Given the description of an element on the screen output the (x, y) to click on. 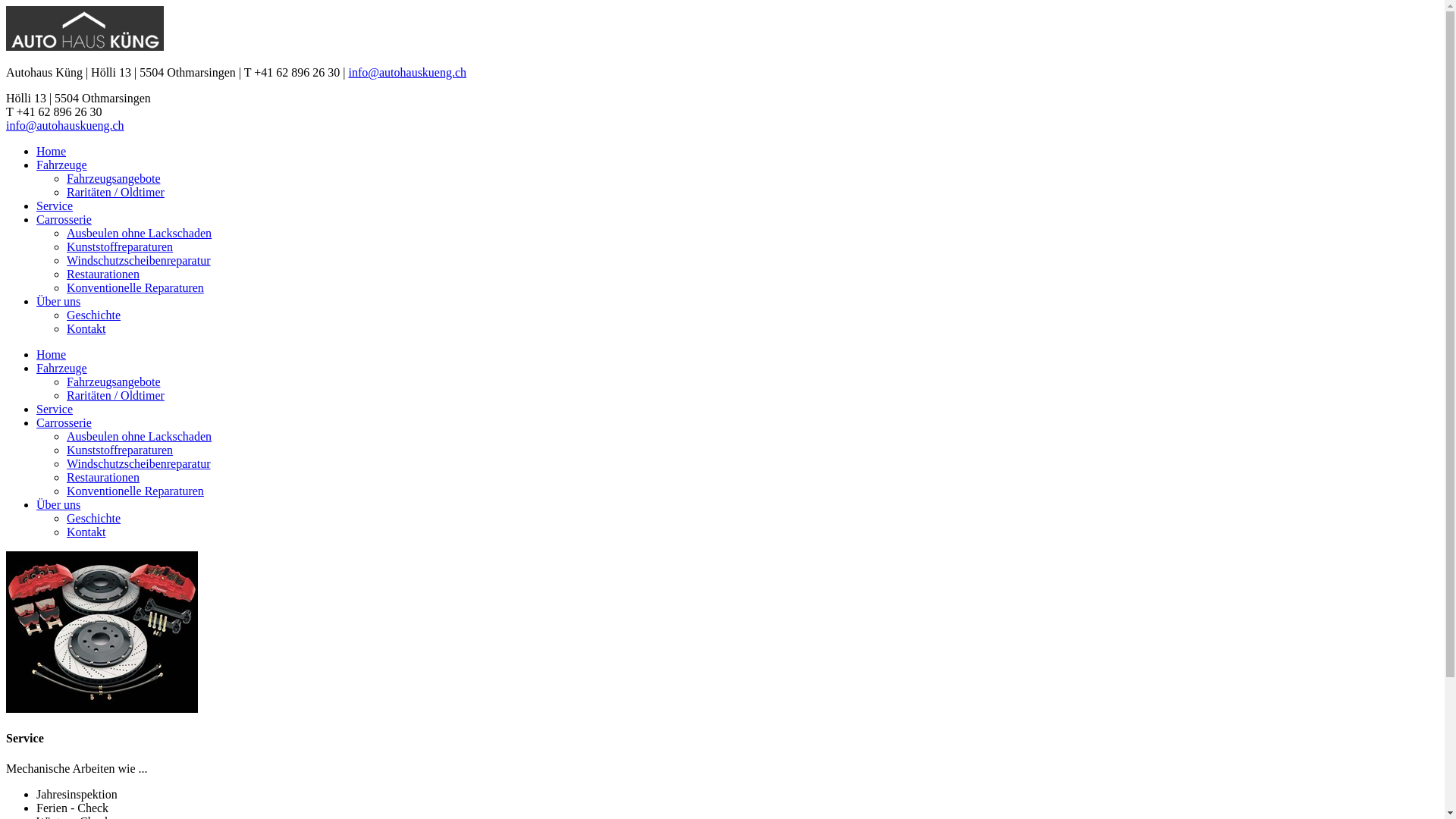
Home Element type: text (50, 150)
Windschutzscheibenreparatur Element type: text (138, 260)
Service Element type: text (54, 205)
info@autohauskueng.ch Element type: text (65, 125)
Kunststoffreparaturen Element type: text (119, 449)
Ausbeulen ohne Lackschaden Element type: text (138, 232)
Konventionelle Reparaturen Element type: text (134, 287)
Kontakt Element type: text (86, 531)
Carrosserie Element type: text (63, 422)
Kunststoffreparaturen Element type: text (119, 246)
Fahrzeugsangebote Element type: text (113, 381)
Geschichte Element type: text (93, 517)
Konventionelle Reparaturen Element type: text (134, 490)
Home Element type: text (50, 354)
Geschichte Element type: text (93, 314)
Fahrzeuge Element type: text (61, 367)
Fahrzeugsangebote Element type: text (113, 178)
Kontakt Element type: text (86, 328)
Service Element type: text (54, 408)
Carrosserie Element type: text (63, 219)
Ausbeulen ohne Lackschaden Element type: text (138, 435)
Restaurationen Element type: text (102, 273)
Restaurationen Element type: text (102, 476)
Windschutzscheibenreparatur Element type: text (138, 463)
Fahrzeuge Element type: text (61, 164)
info@autohauskueng.ch Element type: text (407, 71)
